Given the description of an element on the screen output the (x, y) to click on. 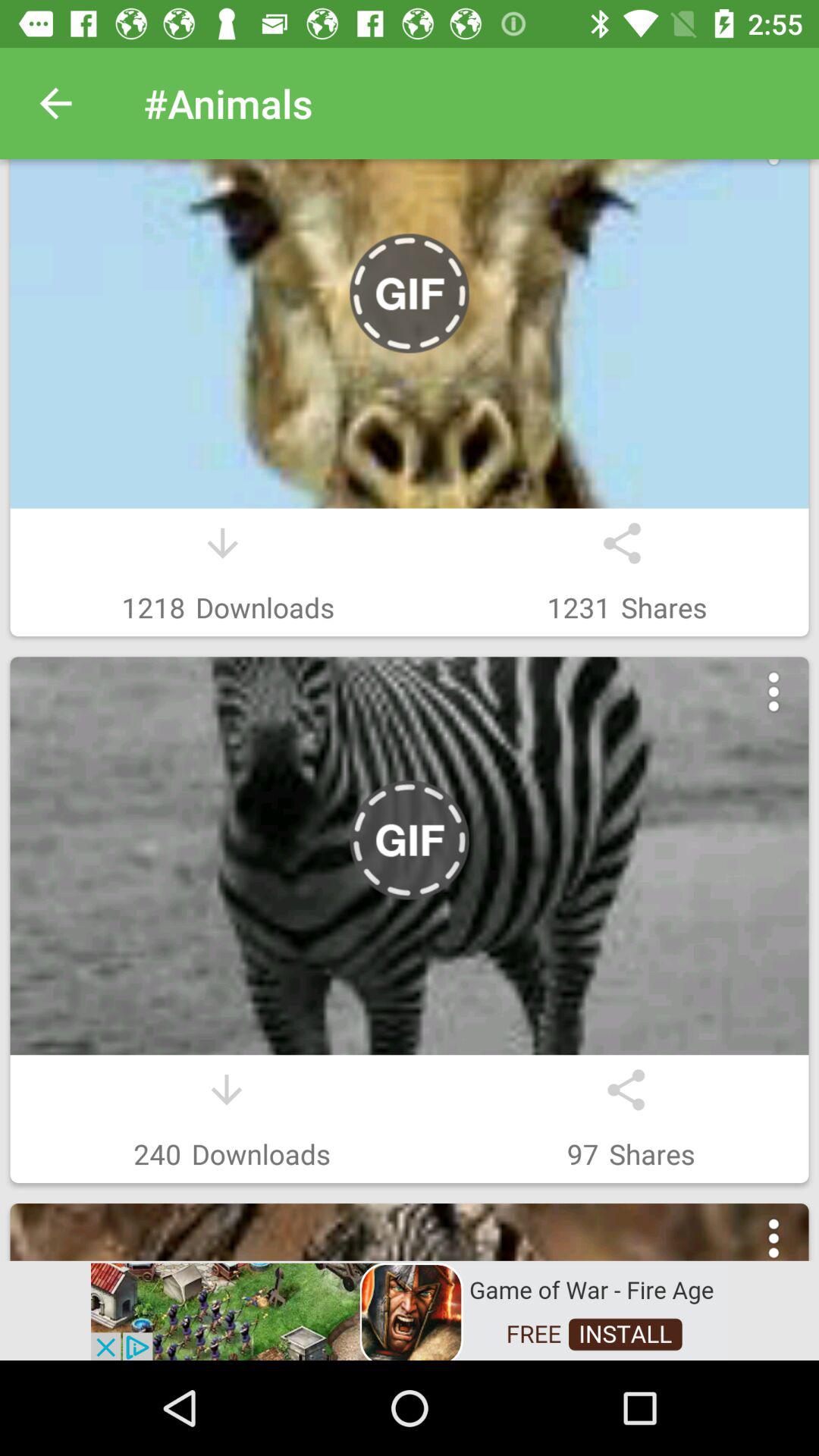
select the share button below the second gif (626, 1089)
select the gif which has the picture of zebra (409, 855)
click on gif icon which is on the picture of zibra (409, 839)
choose first image from top (409, 333)
click on menu button in second image (773, 691)
